Given the description of an element on the screen output the (x, y) to click on. 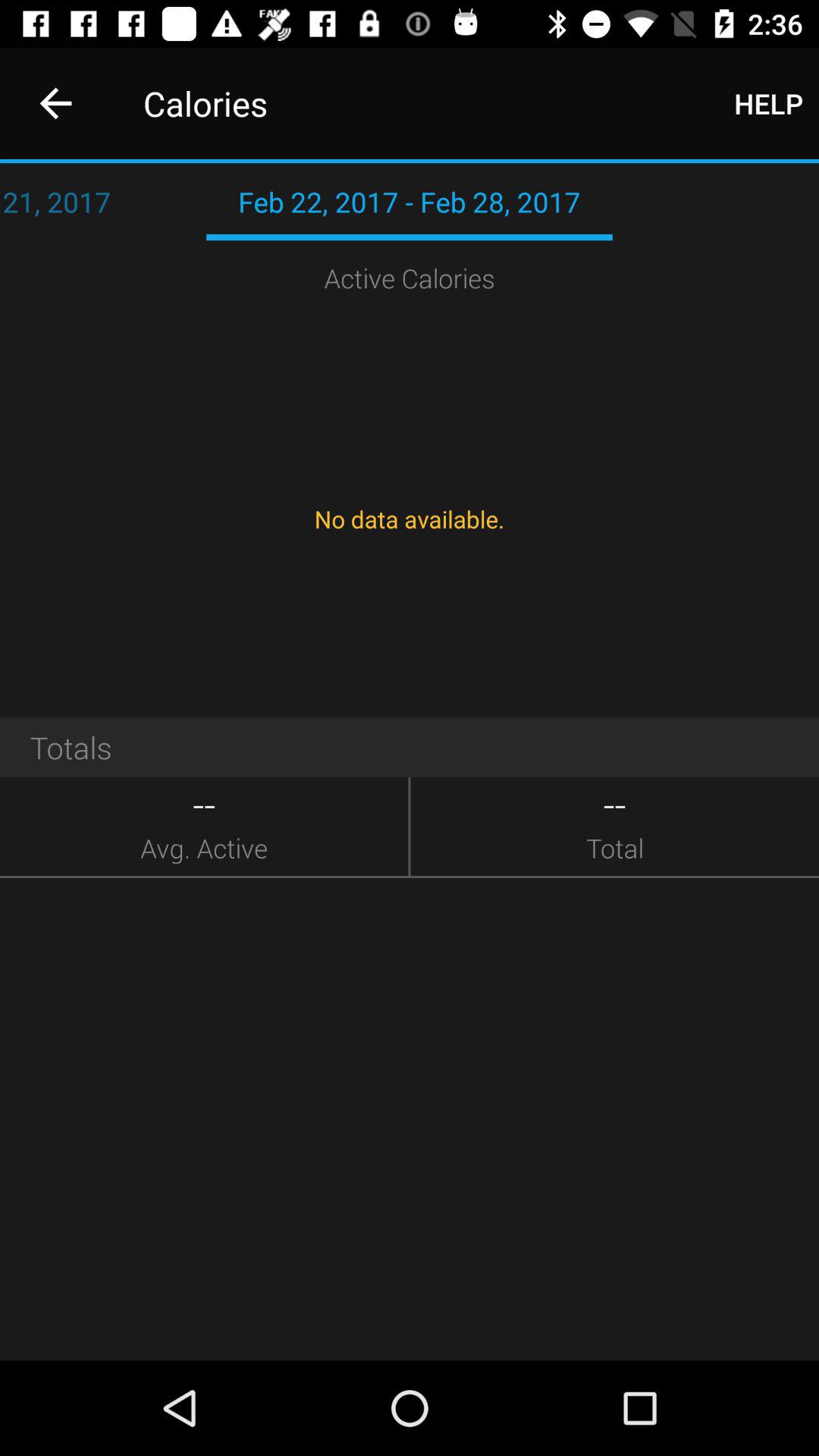
click the button on the top right corner of the web page (768, 103)
